Given the description of an element on the screen output the (x, y) to click on. 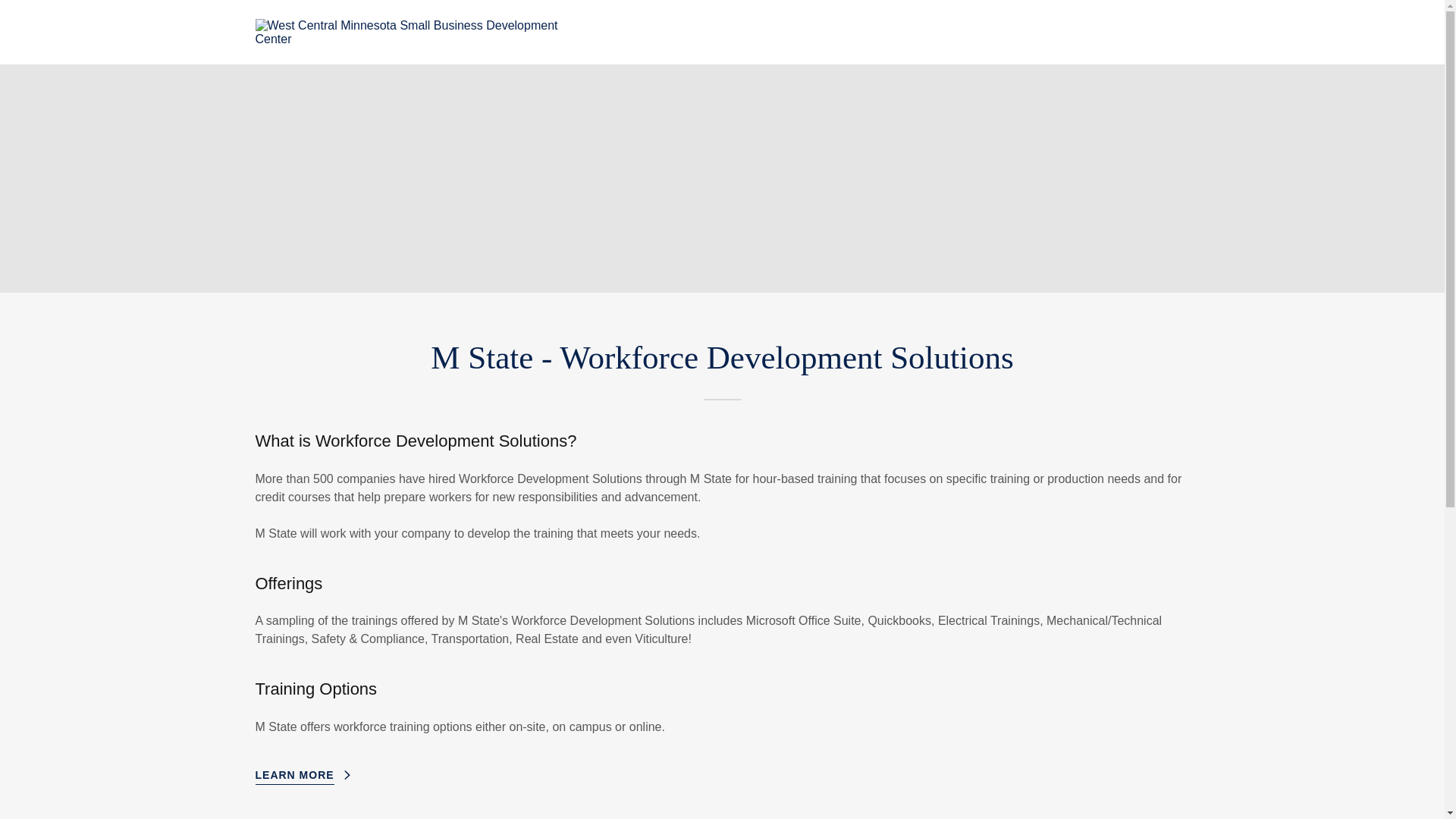
West Central Minnesota Small Business Development Center (417, 31)
